Given the description of an element on the screen output the (x, y) to click on. 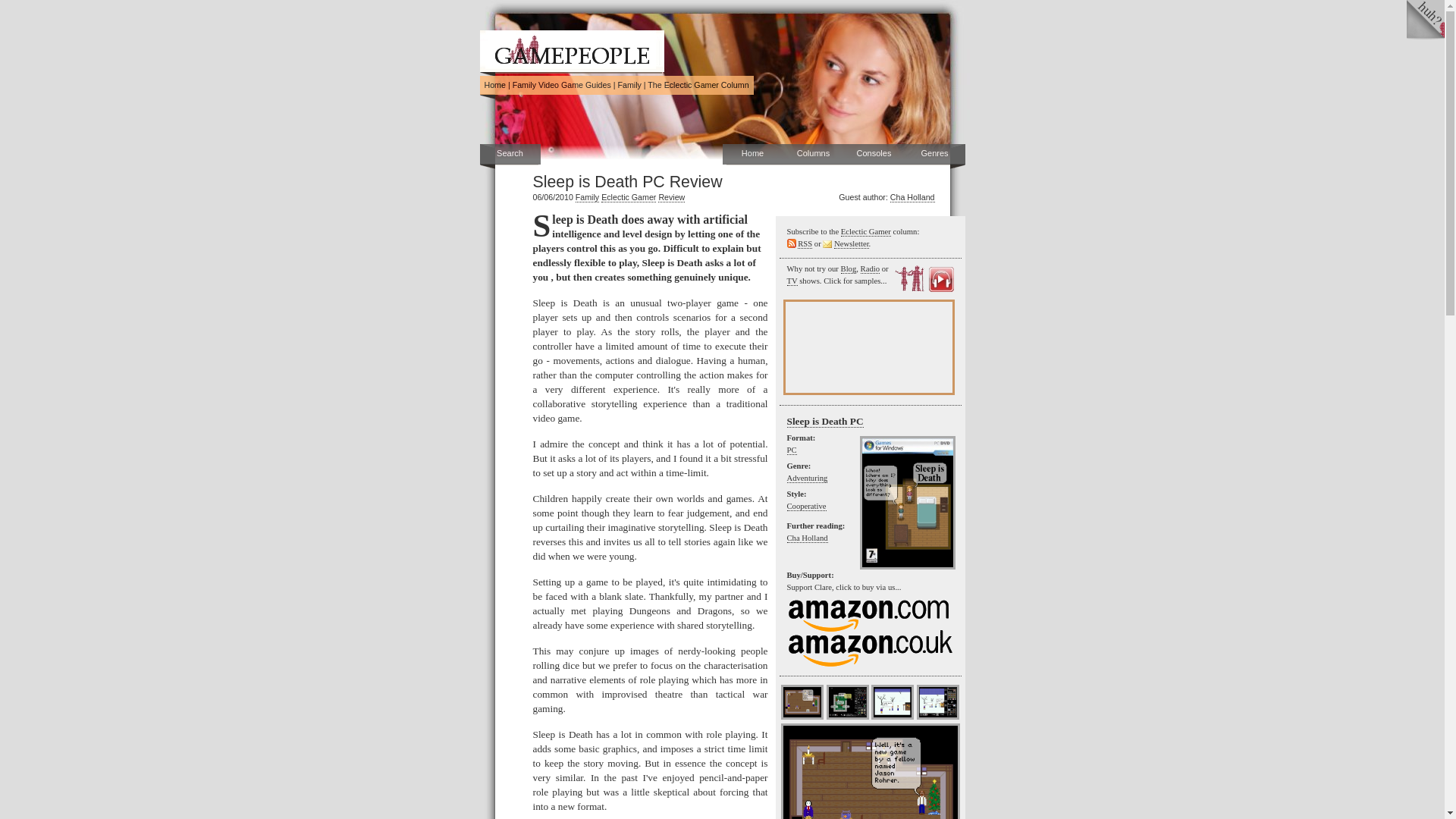
The Eclectic Gamer Column (697, 84)
Family (586, 197)
Home (494, 84)
Sleep is Death - screen two. (848, 701)
Columns (813, 154)
Breadcrumb Trail (615, 85)
Sleep is Death - screen four. (938, 701)
Play-style (807, 506)
Home (494, 84)
Group (628, 84)
Sleep is Death - screen one. (802, 701)
Eclectic Gamer (628, 197)
Sleep is Death - screen three. (892, 701)
Family (628, 84)
Search (509, 154)
